Given the description of an element on the screen output the (x, y) to click on. 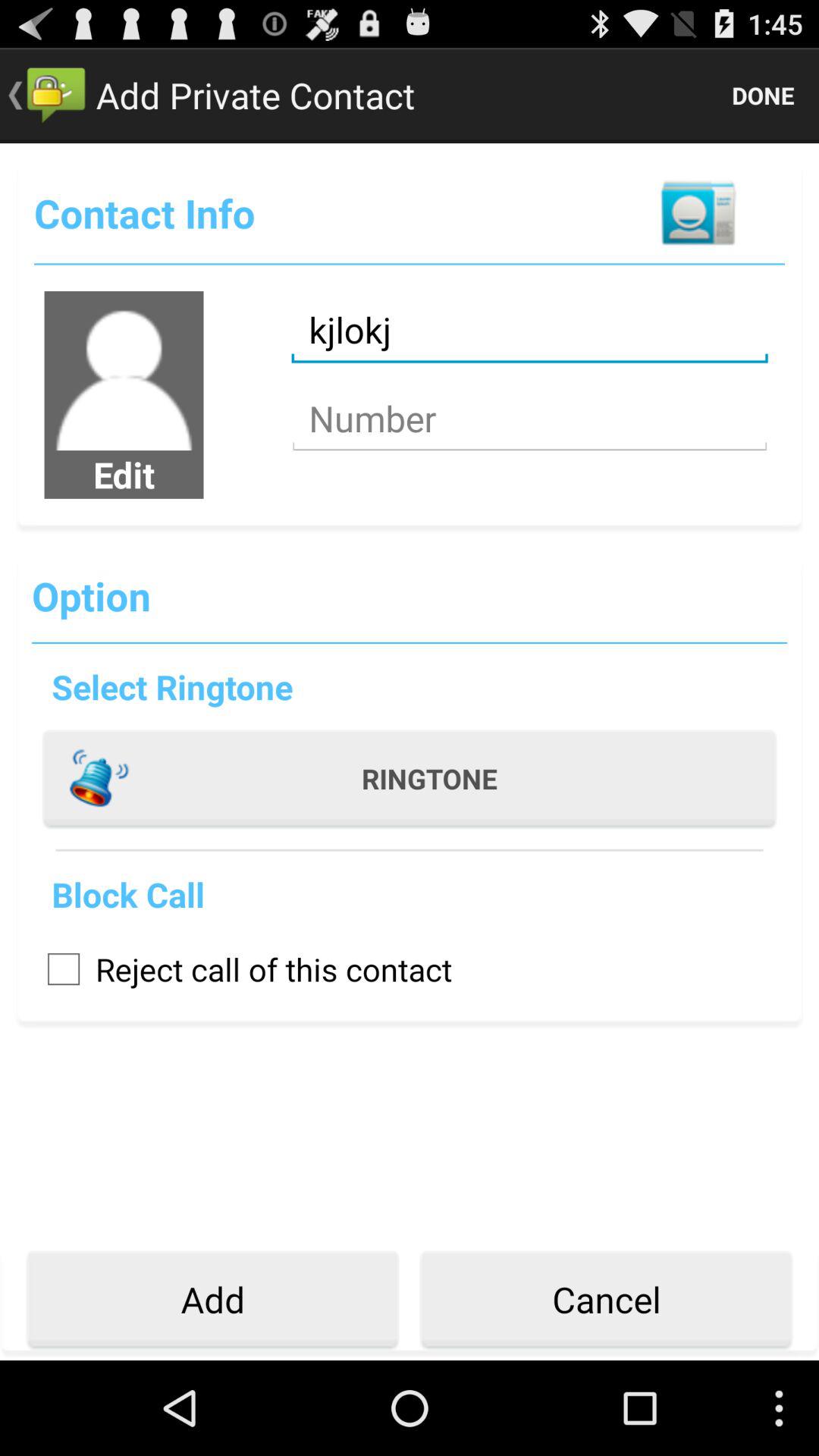
enter your mobile number (529, 418)
